Given the description of an element on the screen output the (x, y) to click on. 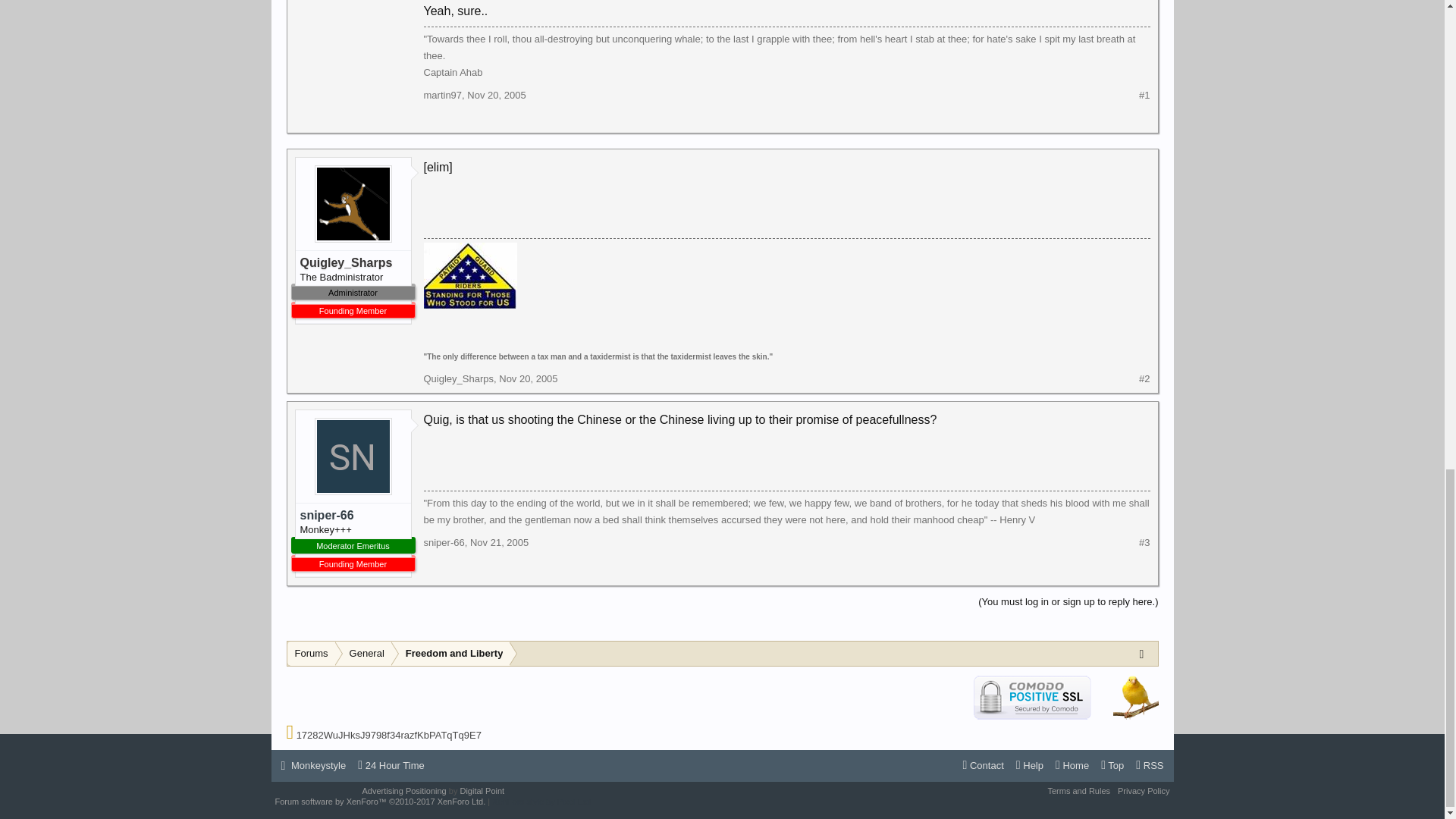
17282WuJHksJ9798f34razfKbPATqTq9E7 (389, 735)
martin97 (442, 94)
Forums (310, 653)
Warrant Canary (1135, 696)
Nov 21, 2005 (499, 542)
sniper-66 (352, 515)
Permalink (496, 94)
Permalink (499, 542)
Nov 20, 2005 (496, 94)
General (363, 653)
Open quick navigation (1144, 653)
Nov 20, 2005 (528, 378)
Permalink (528, 378)
sniper-66 (443, 542)
Freedom and Liberty (451, 653)
